Given the description of an element on the screen output the (x, y) to click on. 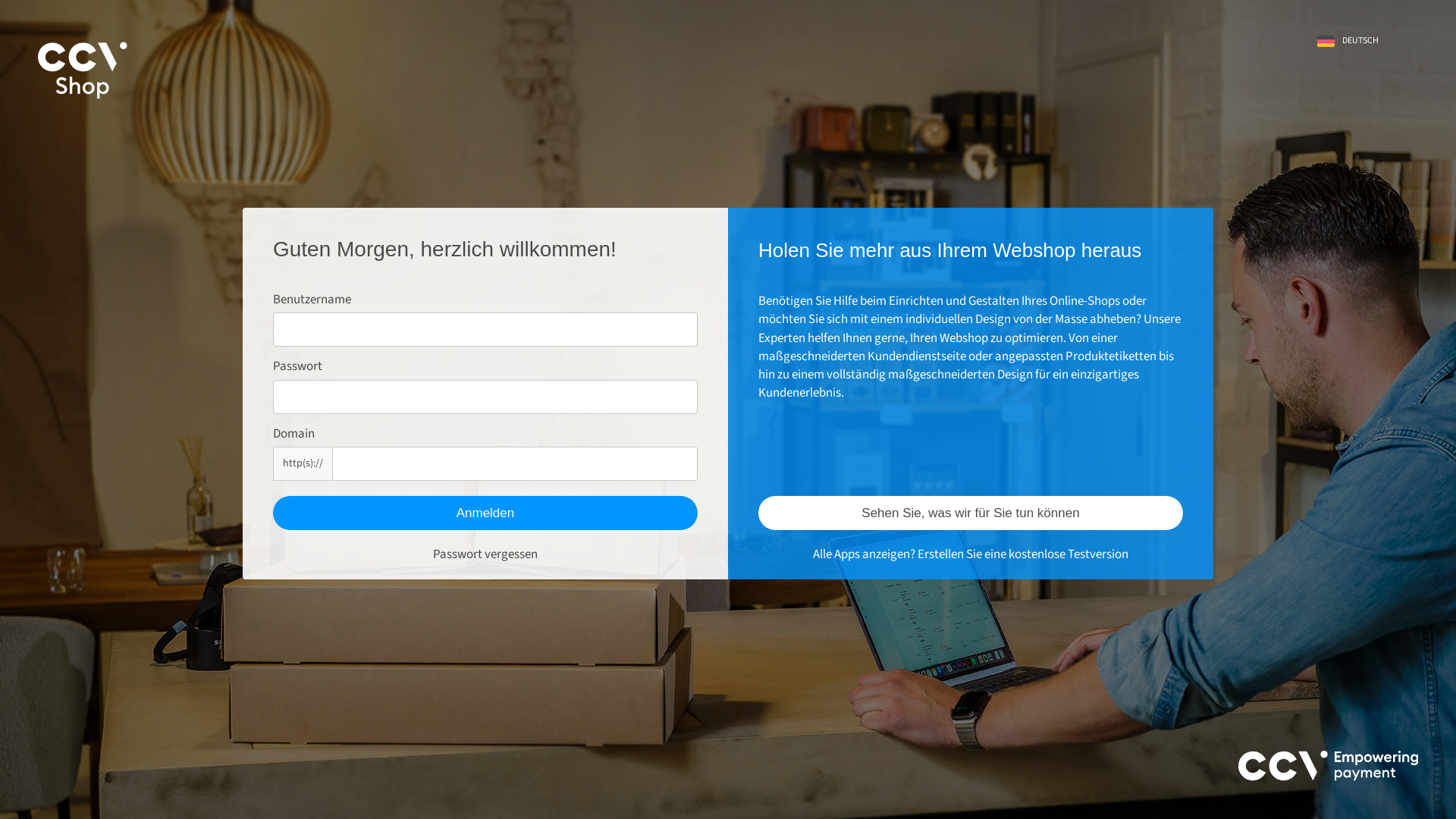
Passwort vergessen Element type: text (485, 554)
Anmelden Element type: text (485, 512)
